Given the description of an element on the screen output the (x, y) to click on. 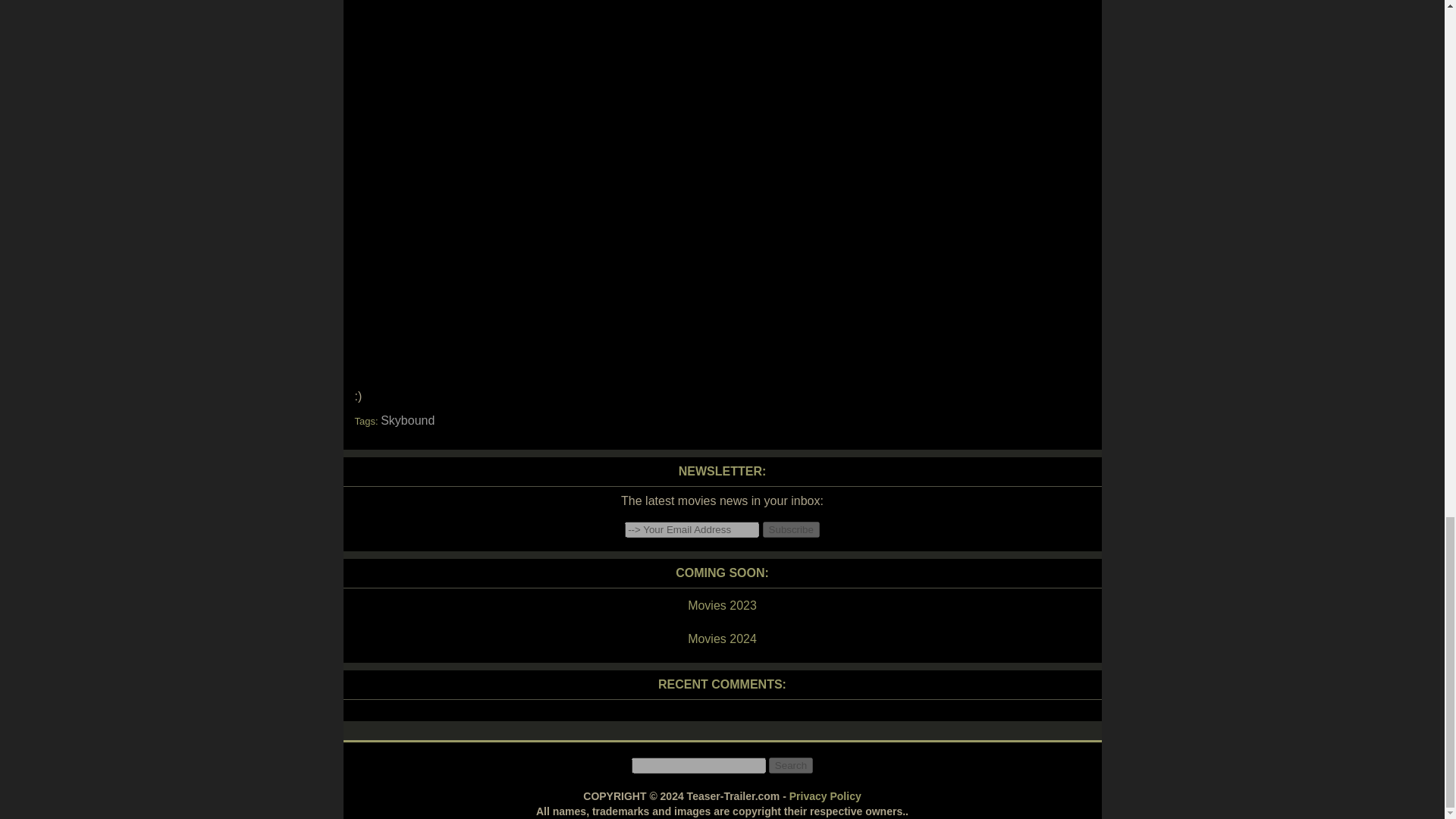
Movies 2023 (721, 605)
Search (790, 765)
Subscribe (790, 529)
Search (790, 765)
Privacy Policy (825, 796)
Subscribe (790, 529)
Movies 2024 (721, 639)
Skybound (406, 420)
